Given the description of an element on the screen output the (x, y) to click on. 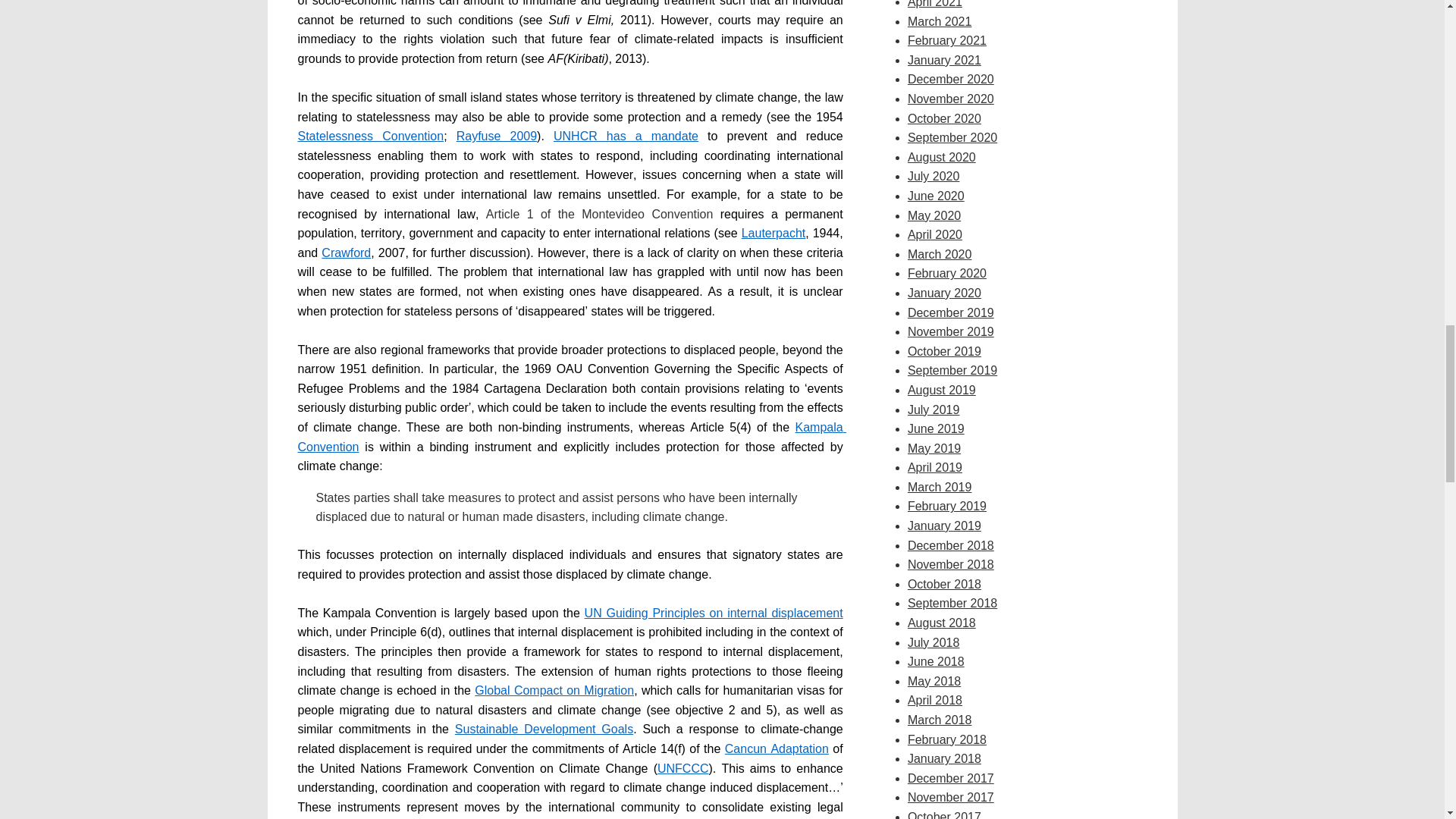
Kampala Convention (571, 436)
Global Compact on Migration (553, 689)
UNFCCC (683, 768)
Sustainable Development Goals (543, 728)
Statelessness Convention (370, 135)
Crawford (346, 252)
Rayfuse 2009 (497, 135)
Article 1 of the Montevideo Convention  (603, 214)
UNHCR has a mandate (625, 135)
Lauterpacht (773, 232)
